Given the description of an element on the screen output the (x, y) to click on. 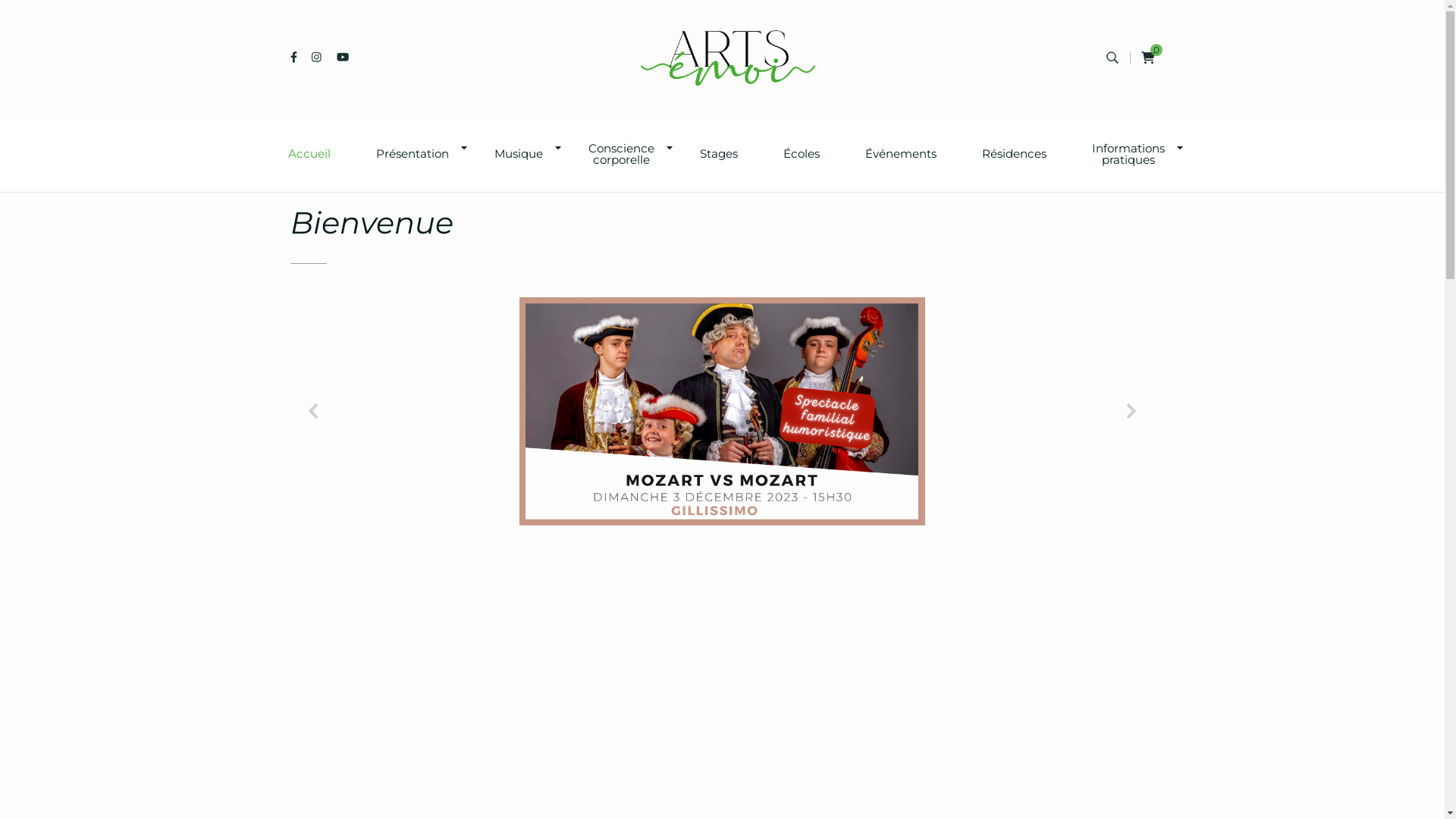
Accueil Element type: text (309, 153)
Musique Element type: text (518, 153)
Informations pratiques Element type: text (1128, 153)
Stages Element type: text (718, 153)
0 Element type: text (1147, 57)
Arts Emoi ASBL Element type: text (656, 90)
Conscience corporelle Element type: text (621, 153)
